Given the description of an element on the screen output the (x, y) to click on. 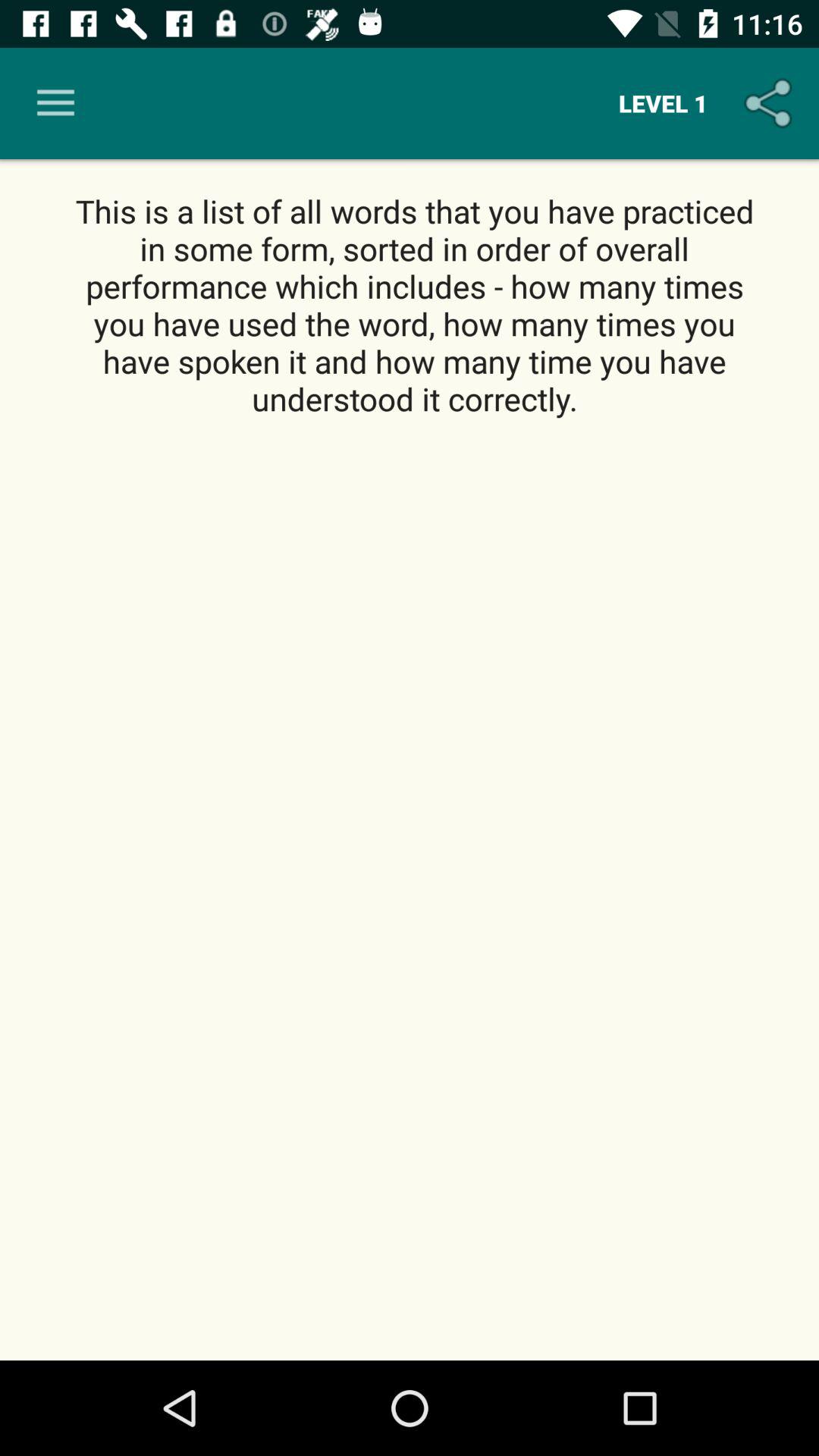
launch level 1 icon (662, 103)
